Given the description of an element on the screen output the (x, y) to click on. 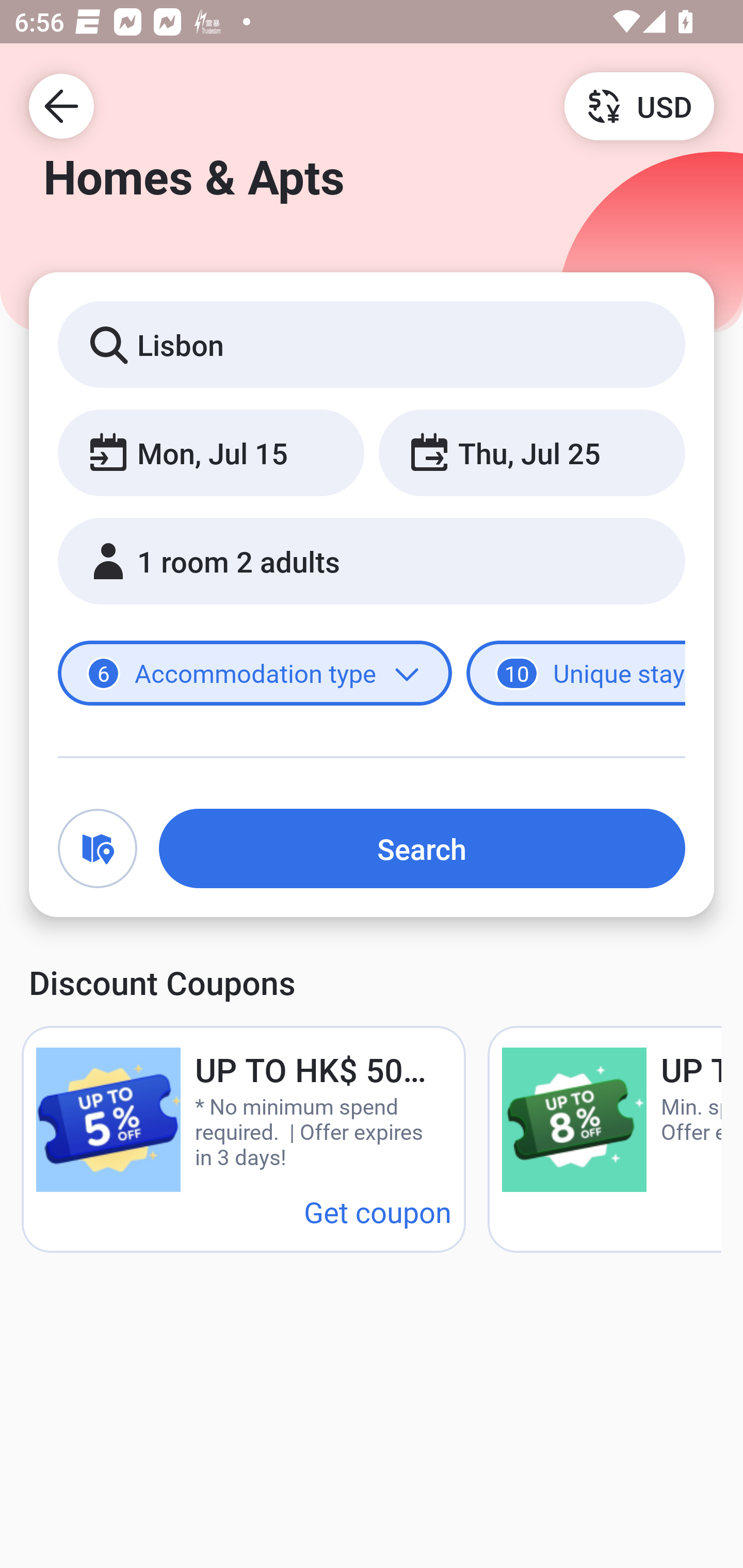
USD (639, 105)
Lisbon (371, 344)
Mon, Jul 15 (210, 452)
Thu, Jul 25 (531, 452)
1 room 2 adults (371, 561)
6 Accommodation type (254, 673)
10 Unique stays (575, 673)
Search (422, 848)
Get coupon (377, 1211)
